Given the description of an element on the screen output the (x, y) to click on. 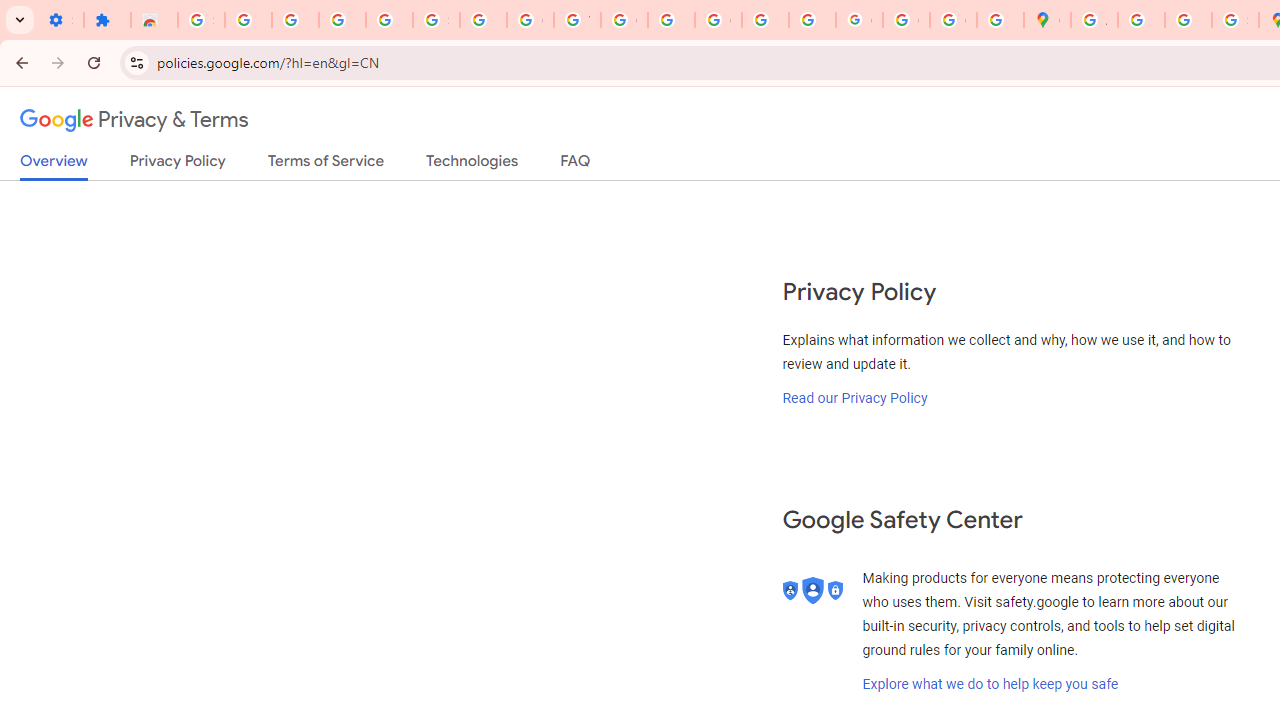
Settings - On startup (60, 20)
https://scholar.google.com/ (671, 20)
Safety in Our Products - Google Safety Center (1235, 20)
